Given the description of an element on the screen output the (x, y) to click on. 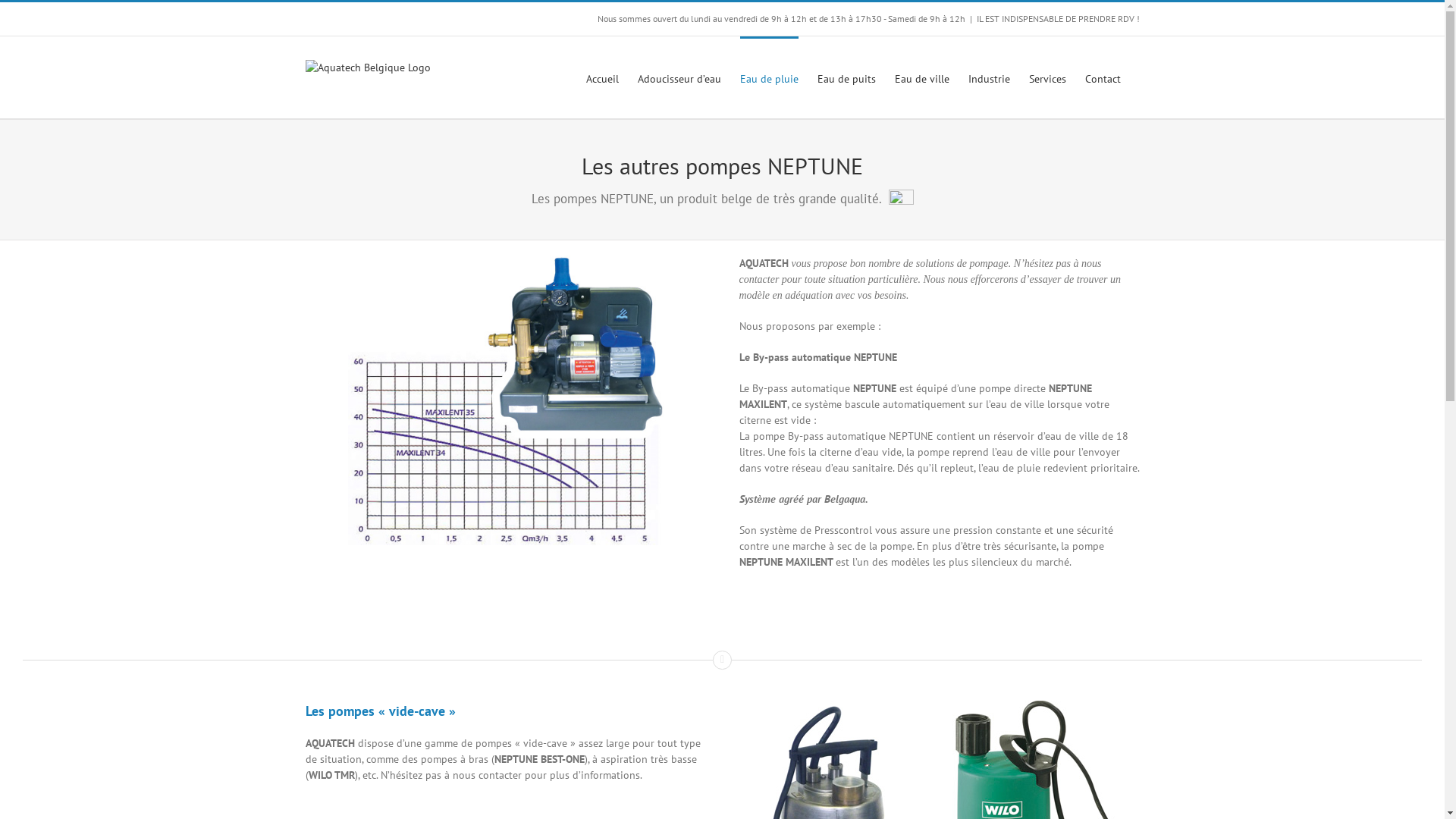
Accueil Element type: text (601, 77)
Industrie Element type: text (988, 77)
Services Element type: text (1046, 77)
Eau de ville Element type: text (921, 77)
Eau de puits Element type: text (846, 77)
Contact Element type: text (1102, 77)
IL EST INDISPENSABLE DE PRENDRE RDV ! Element type: text (1057, 18)
Eau de pluie Element type: text (769, 77)
